Given the description of an element on the screen output the (x, y) to click on. 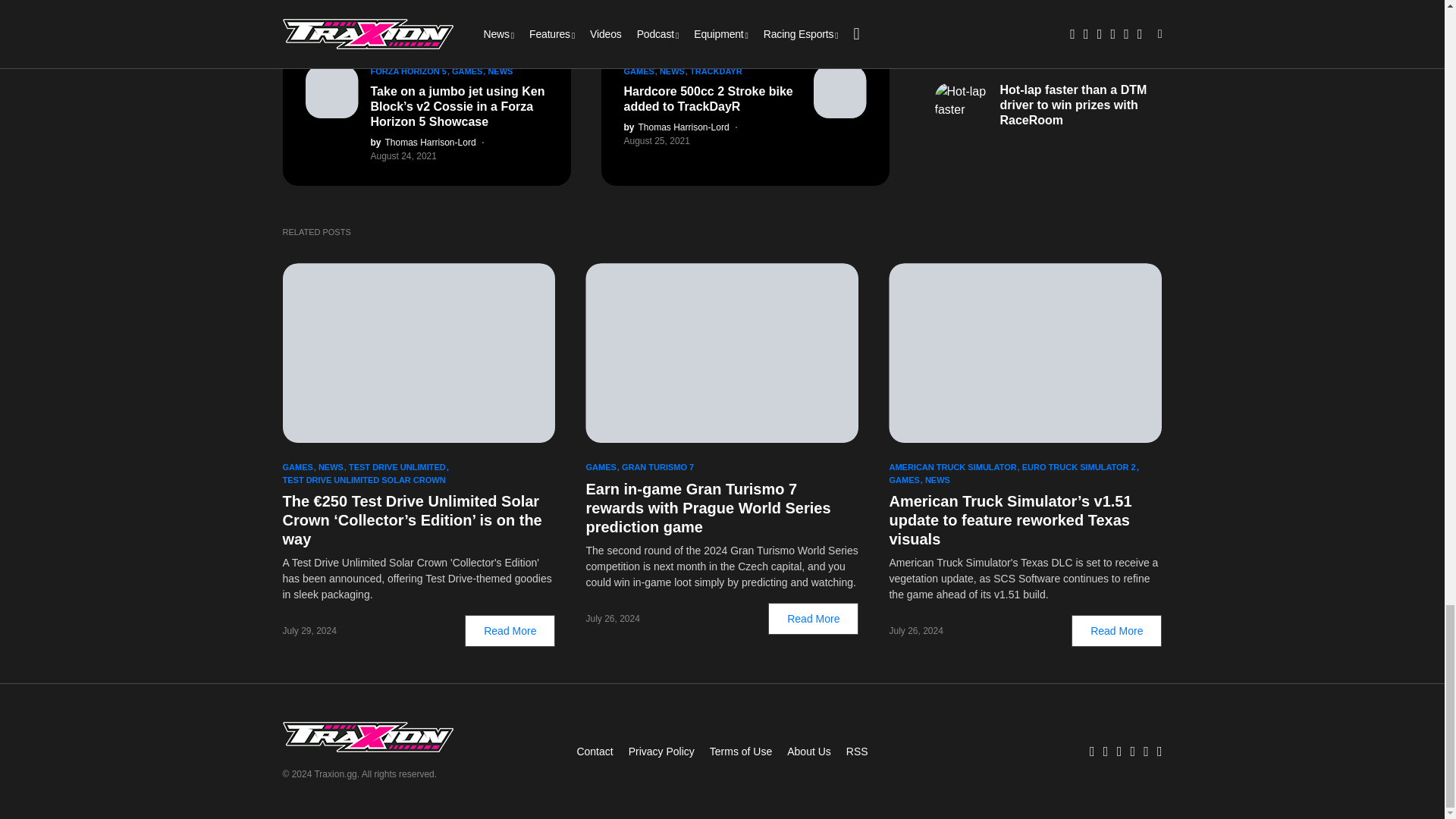
View all posts by Thomas Harrison-Lord (676, 127)
View all posts by Thomas Harrison-Lord (422, 142)
